Given the description of an element on the screen output the (x, y) to click on. 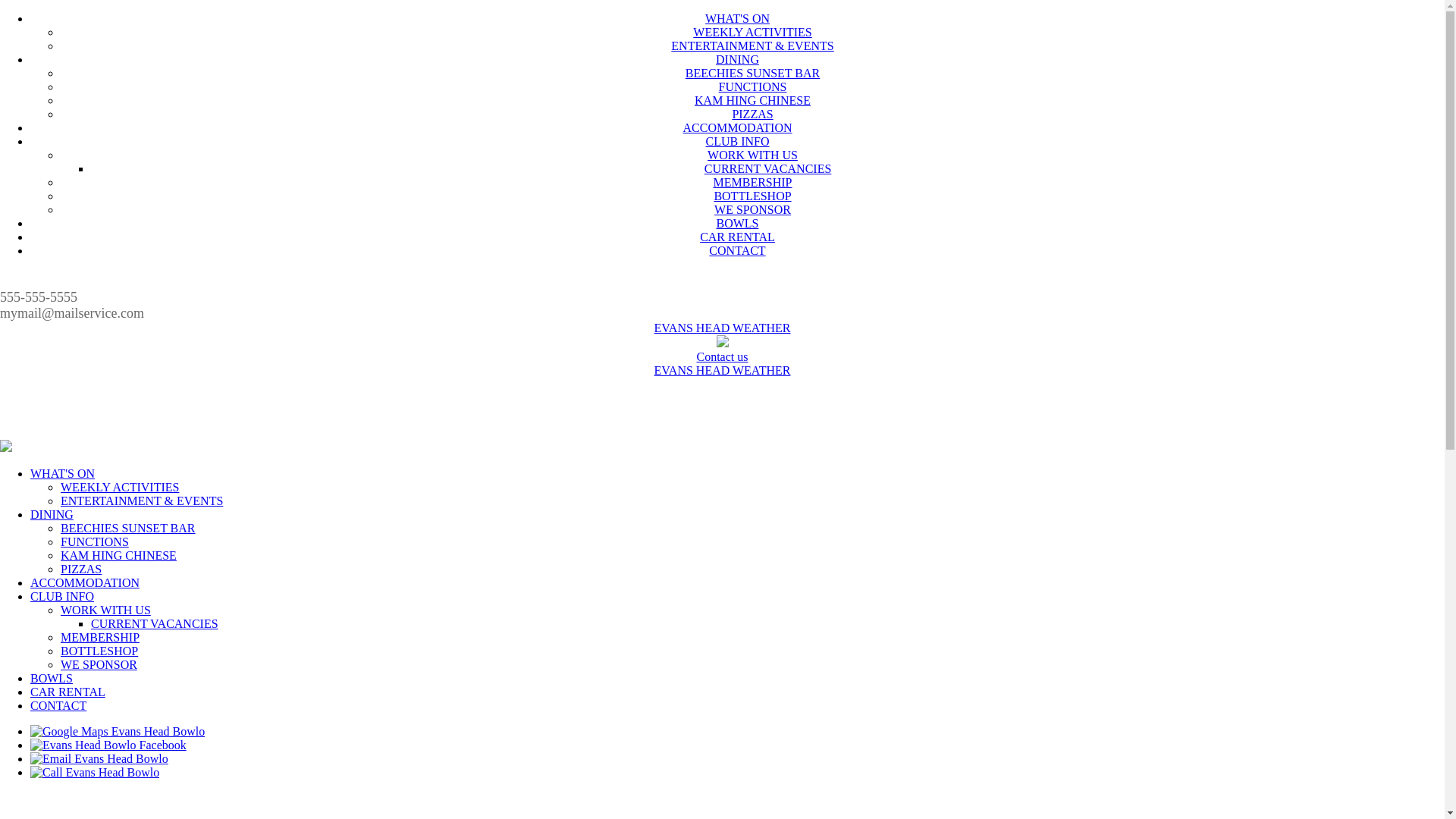
WHAT'S ON Element type: text (62, 473)
CONTACT Element type: text (737, 250)
EVANS HEAD WEATHER Element type: text (722, 327)
EVANS HEAD WEATHER Element type: text (722, 370)
PIZZAS Element type: text (80, 568)
WE SPONSOR Element type: text (752, 209)
WE SPONSOR Element type: text (98, 664)
KAM HING CHINESE Element type: text (752, 100)
PIZZAS Element type: text (751, 113)
DINING Element type: text (737, 59)
MEMBERSHIP Element type: text (99, 636)
WORK WITH US Element type: text (105, 609)
CLUB INFO Element type: text (736, 140)
BOWLS Element type: text (51, 677)
WORK WITH US Element type: text (752, 154)
BOTTLESHOP Element type: text (99, 650)
BEECHIES SUNSET BAR Element type: text (127, 527)
ACCOMMODATION Element type: text (84, 582)
ACCOMMODATION Element type: text (736, 127)
DINING Element type: text (51, 514)
Contact us Element type: text (721, 356)
CURRENT VACANCIES Element type: text (154, 623)
CAR RENTAL Element type: text (737, 236)
BEECHIES SUNSET BAR Element type: text (752, 72)
ENTERTAINMENT & EVENTS Element type: text (141, 500)
CURRENT VACANCIES Element type: text (767, 168)
CAR RENTAL Element type: text (67, 691)
WHAT'S ON Element type: text (737, 18)
ENTERTAINMENT & EVENTS Element type: text (752, 45)
BOTTLESHOP Element type: text (751, 195)
KAM HING CHINESE Element type: text (118, 555)
WEEKLY ACTIVITIES Element type: text (752, 31)
MEMBERSHIP Element type: text (751, 181)
CLUB INFO Element type: text (62, 595)
WEEKLY ACTIVITIES Element type: text (119, 486)
CONTACT Element type: text (58, 705)
FUNCTIONS Element type: text (94, 541)
BOWLS Element type: text (736, 222)
FUNCTIONS Element type: text (752, 86)
